Given the description of an element on the screen output the (x, y) to click on. 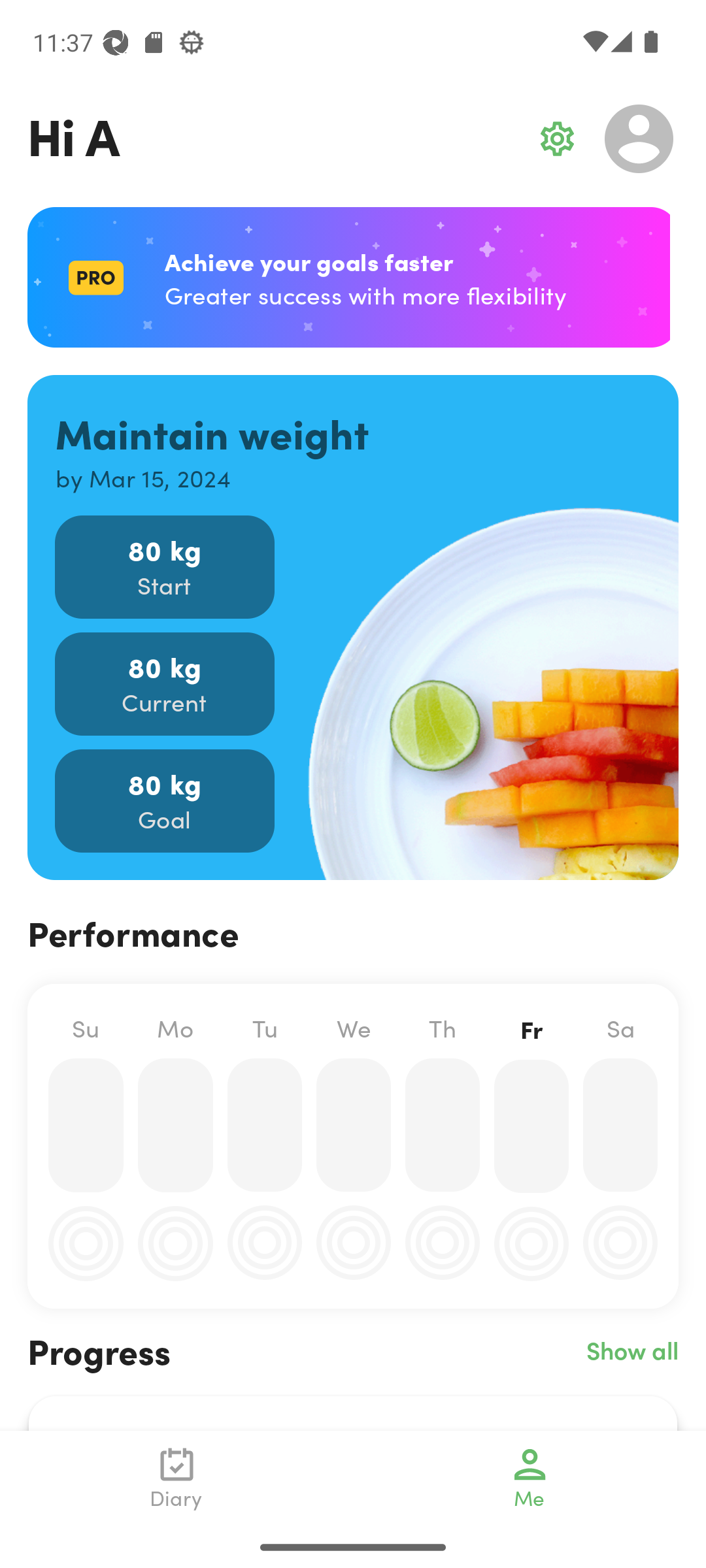
settings_action (556, 138)
profile_photo_action (638, 138)
Diary navigation_icon (176, 1478)
